Given the description of an element on the screen output the (x, y) to click on. 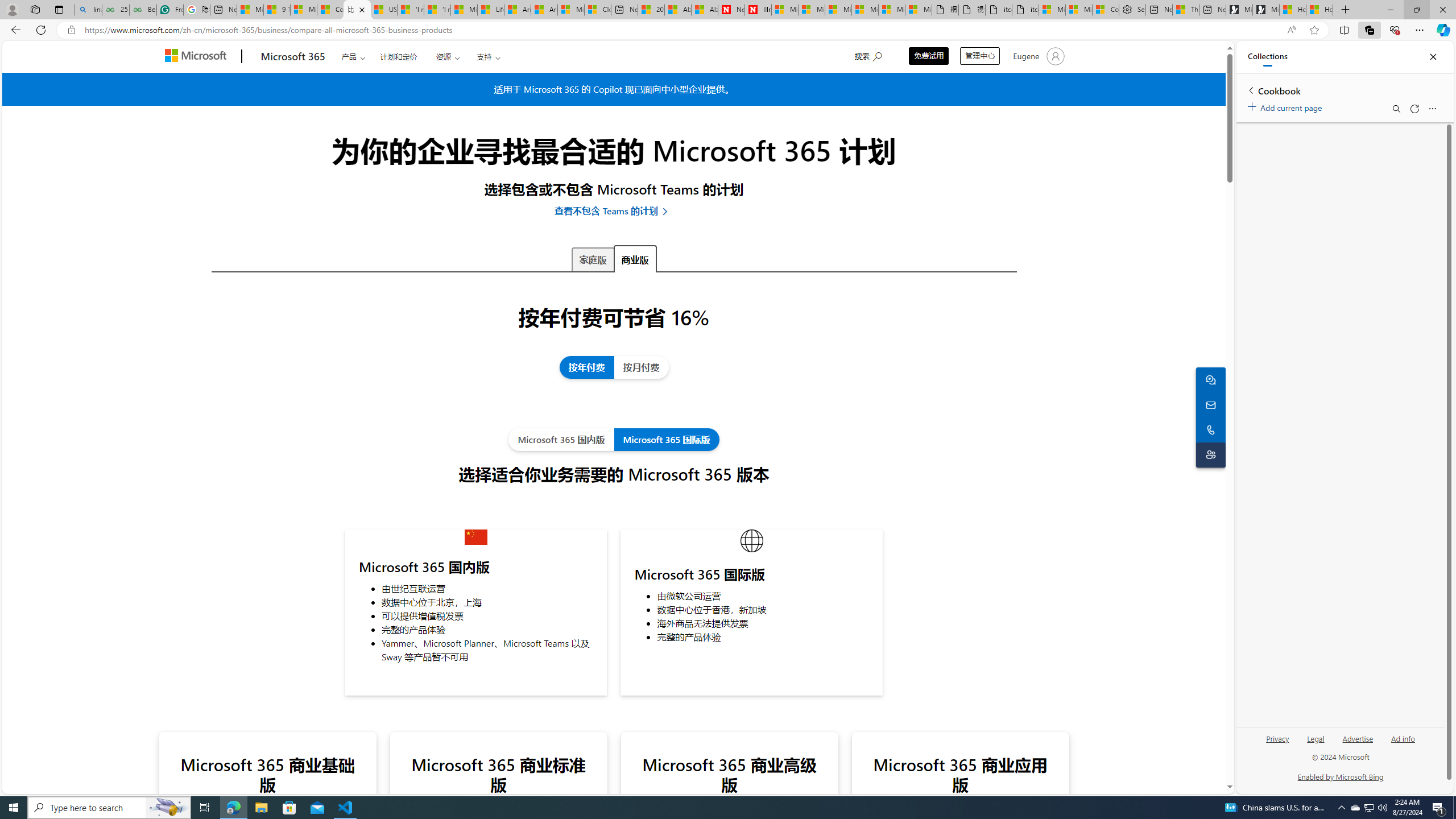
Best SSL Certificates Provider in India - GeeksforGeeks (143, 9)
itconcepthk.com/projector_solutions.mp4 (1025, 9)
Back to list of collections (1250, 90)
linux basic - Search (87, 9)
